Given the description of an element on the screen output the (x, y) to click on. 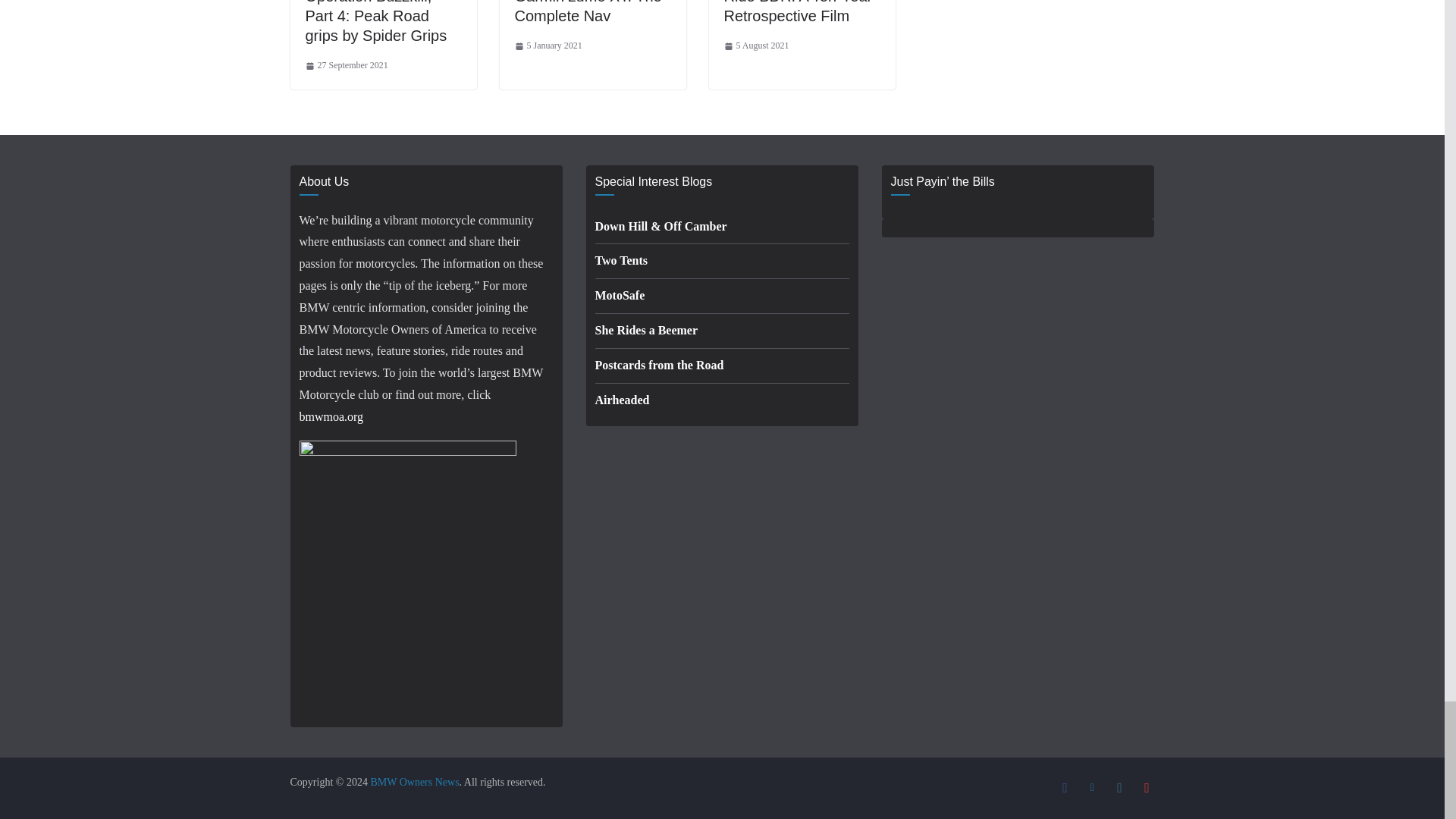
5 January 2021 (546, 45)
Operation Buzzkill, Part 4: Peak Road grips by Spider Grips (375, 22)
17:59 (546, 45)
Ride BDR: A Ten-Year Retrospective Film (797, 12)
27 September 2021 (345, 65)
10:19 (756, 45)
Operation Buzzkill, Part 4: Peak Road grips by Spider Grips (375, 22)
15:35 (345, 65)
5 August 2021 (756, 45)
Ride BDR: A Ten-Year Retrospective Film (797, 12)
